Given the description of an element on the screen output the (x, y) to click on. 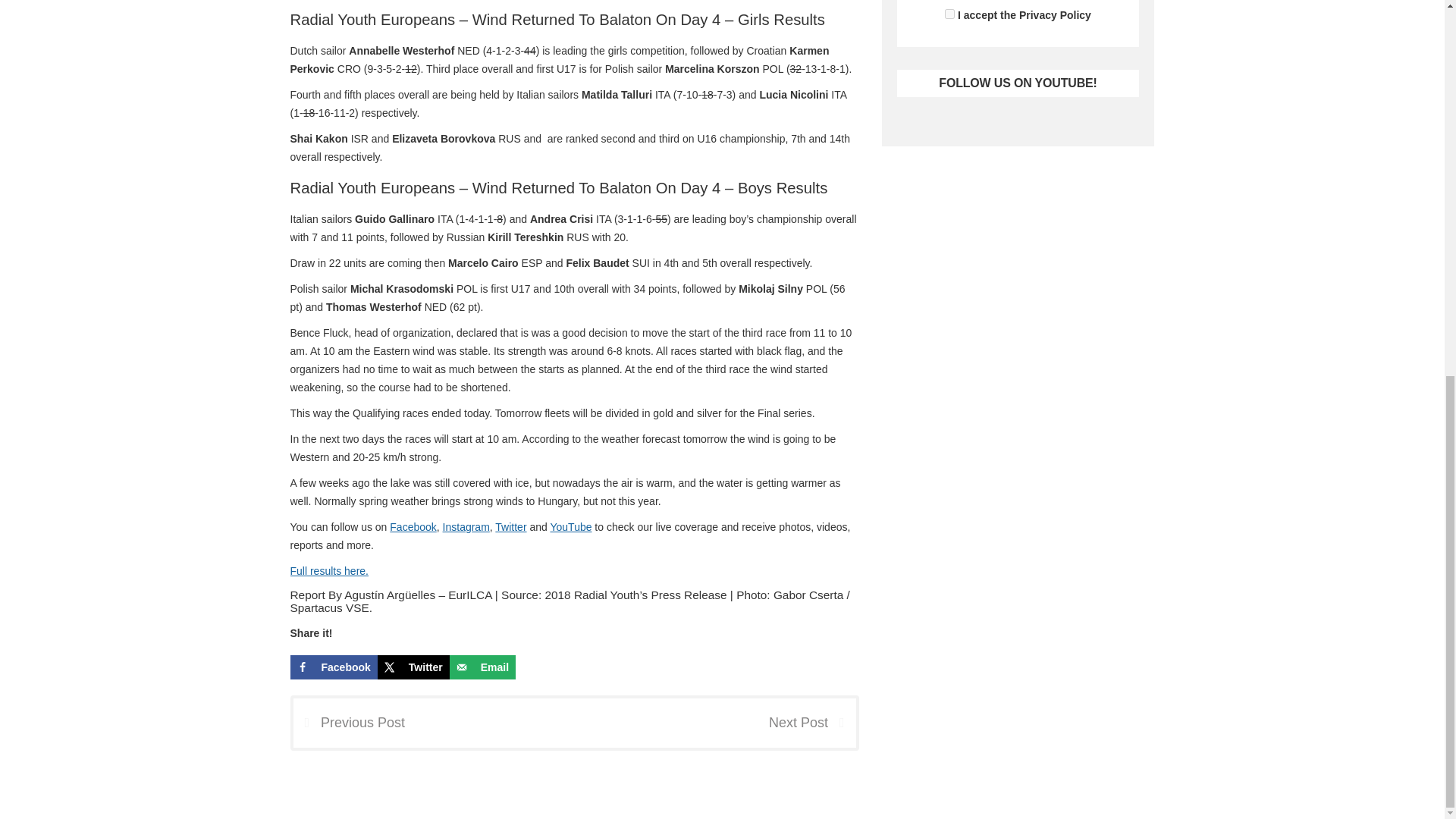
Send over email (482, 667)
Share on X (413, 667)
Share on Facebook (333, 667)
on (949, 13)
